Given the description of an element on the screen output the (x, y) to click on. 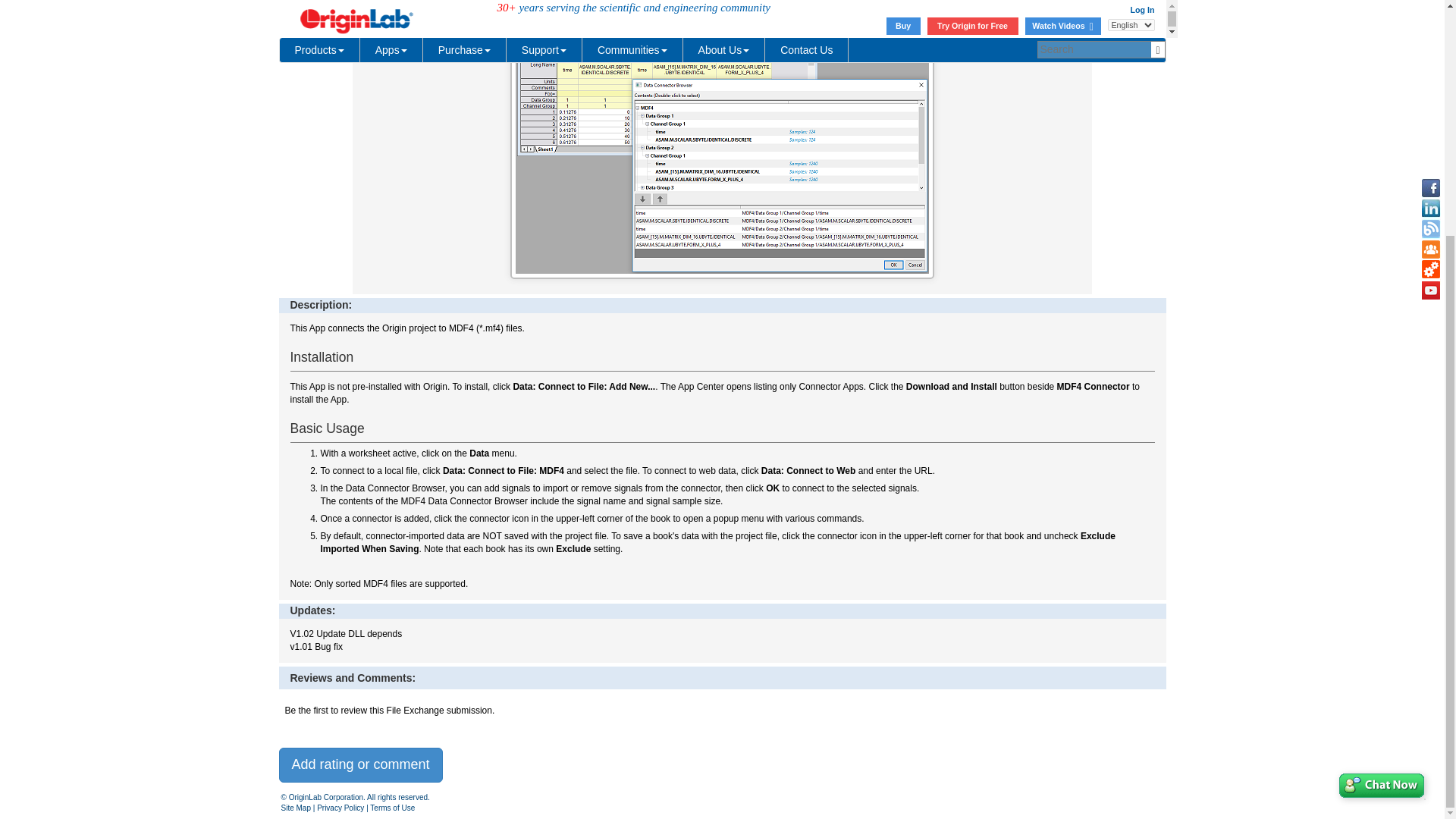
Add rating or comment (360, 764)
